Given the description of an element on the screen output the (x, y) to click on. 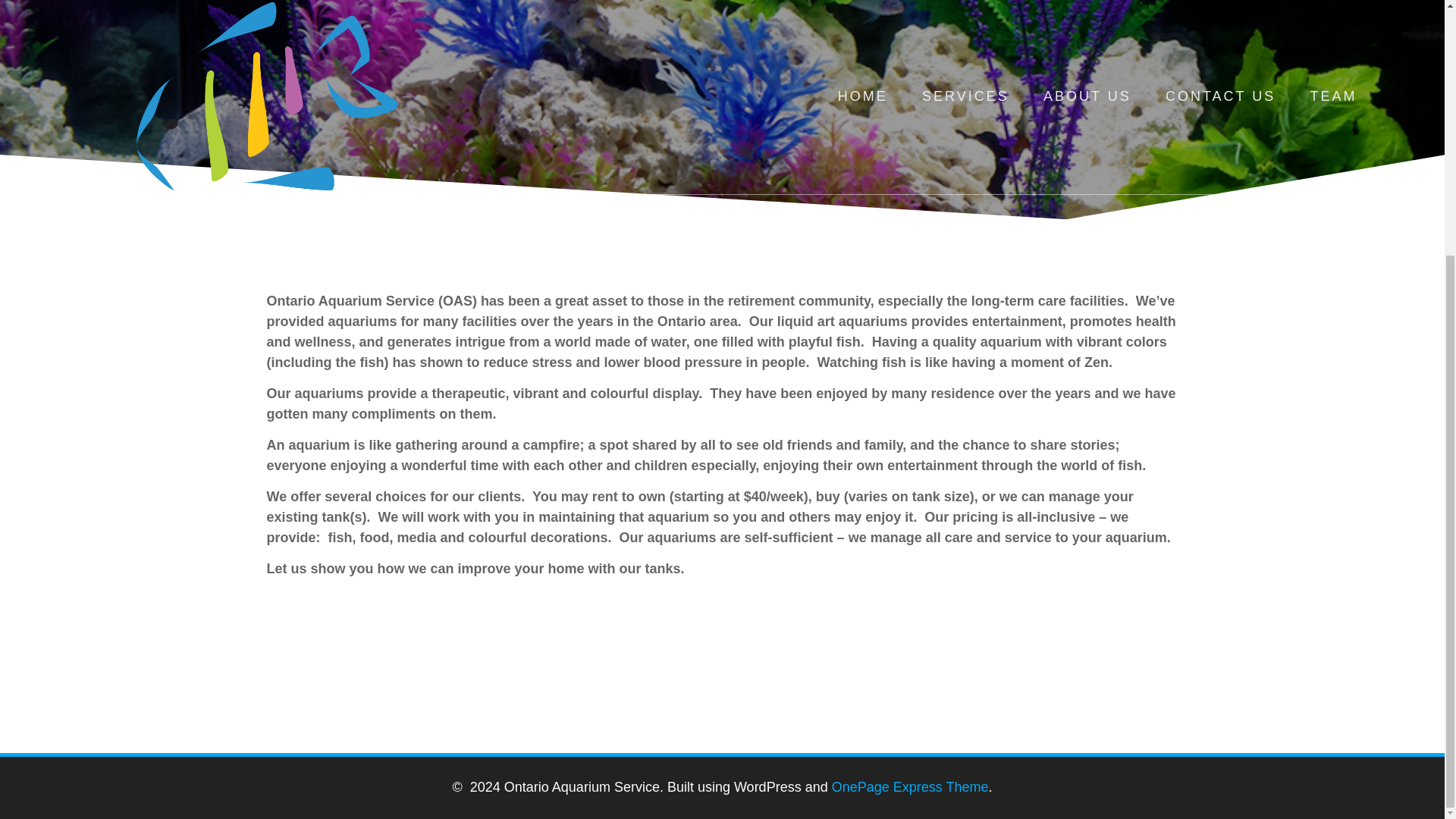
OnePage Express Theme (909, 786)
